Given the description of an element on the screen output the (x, y) to click on. 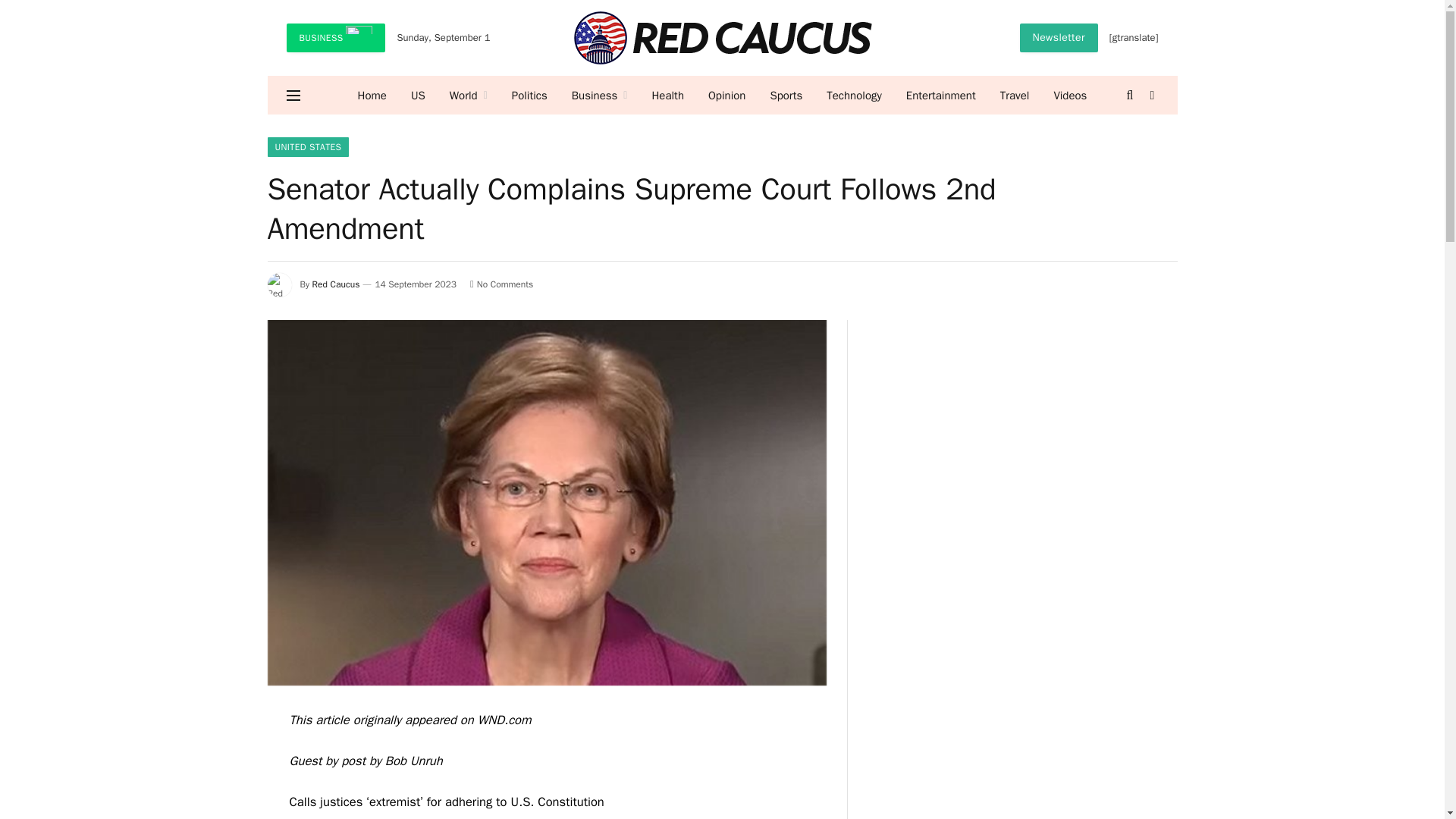
Politics (529, 95)
Red Caucus (722, 38)
Newsletter (1058, 37)
US (418, 95)
BUSINESS (335, 37)
Switch to Dark Design - easier on eyes. (1150, 95)
Posts by Red Caucus (336, 284)
Home (372, 95)
World (468, 95)
